Given the description of an element on the screen output the (x, y) to click on. 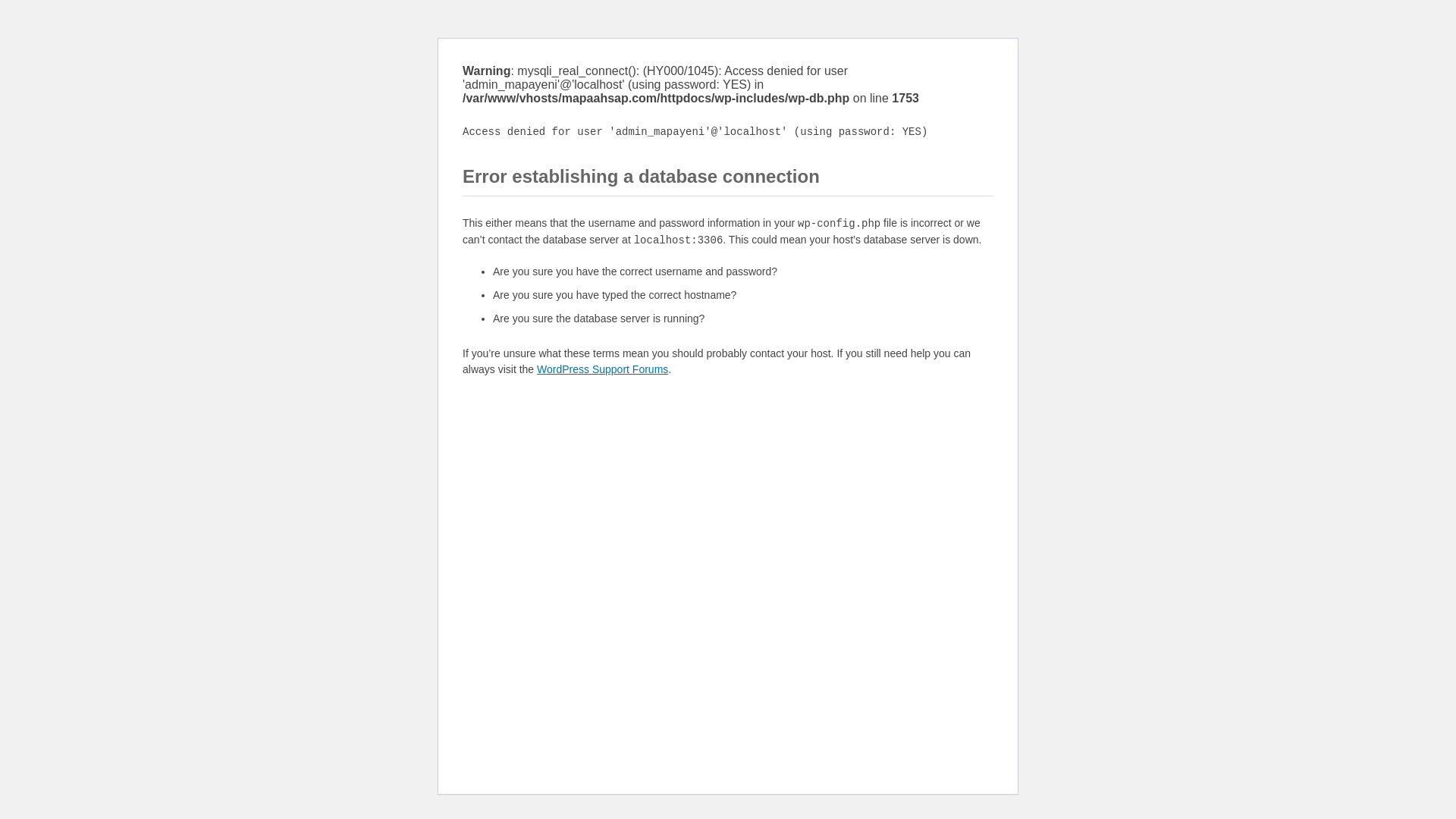
WordPress Support Forums (602, 369)
